Given the description of an element on the screen output the (x, y) to click on. 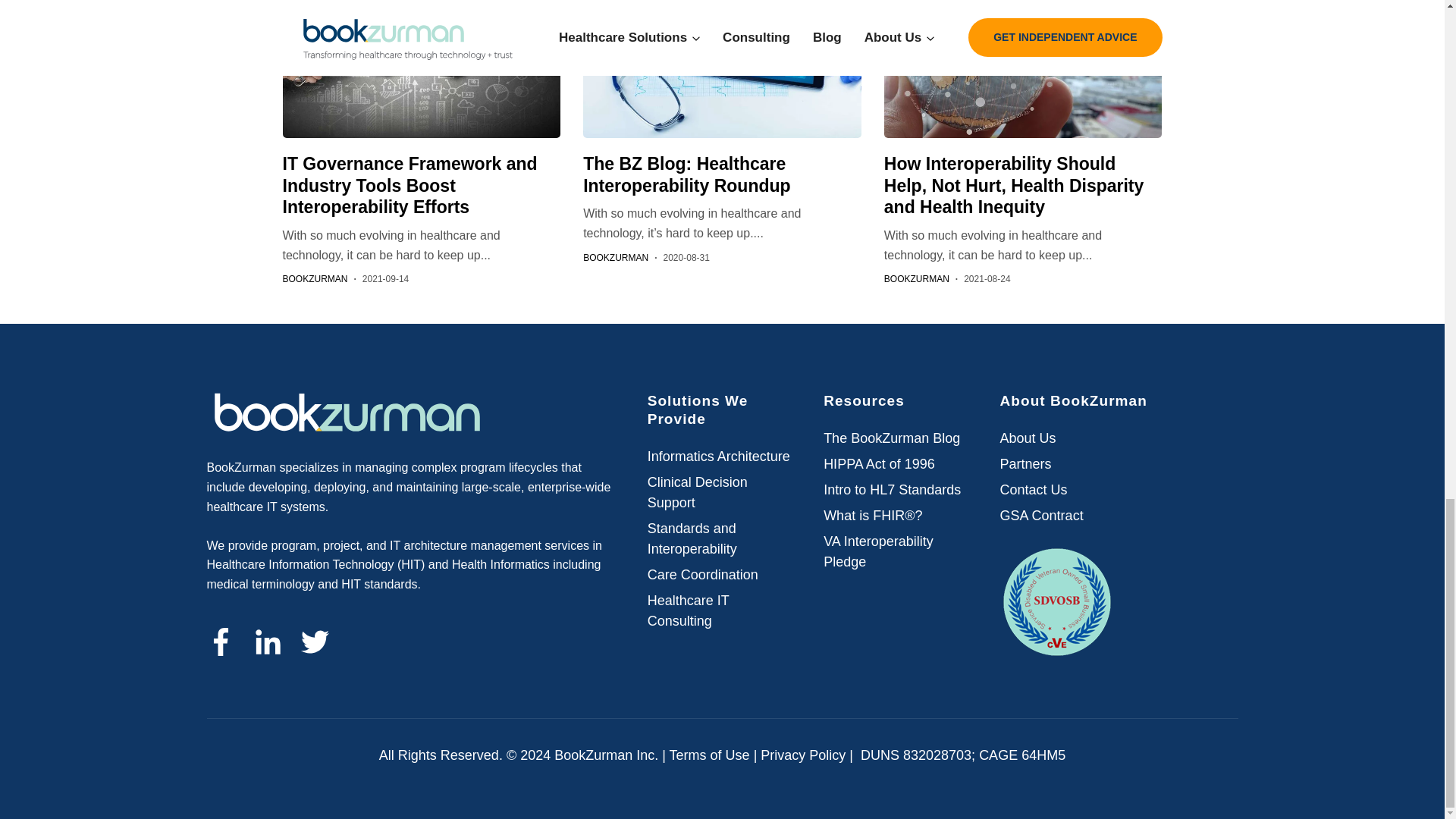
BOOKZURMAN (314, 278)
SDVOSB Logo v2 - 150x150 (1056, 602)
BZ-logo-RGB-White-Book-Font (346, 414)
